Given the description of an element on the screen output the (x, y) to click on. 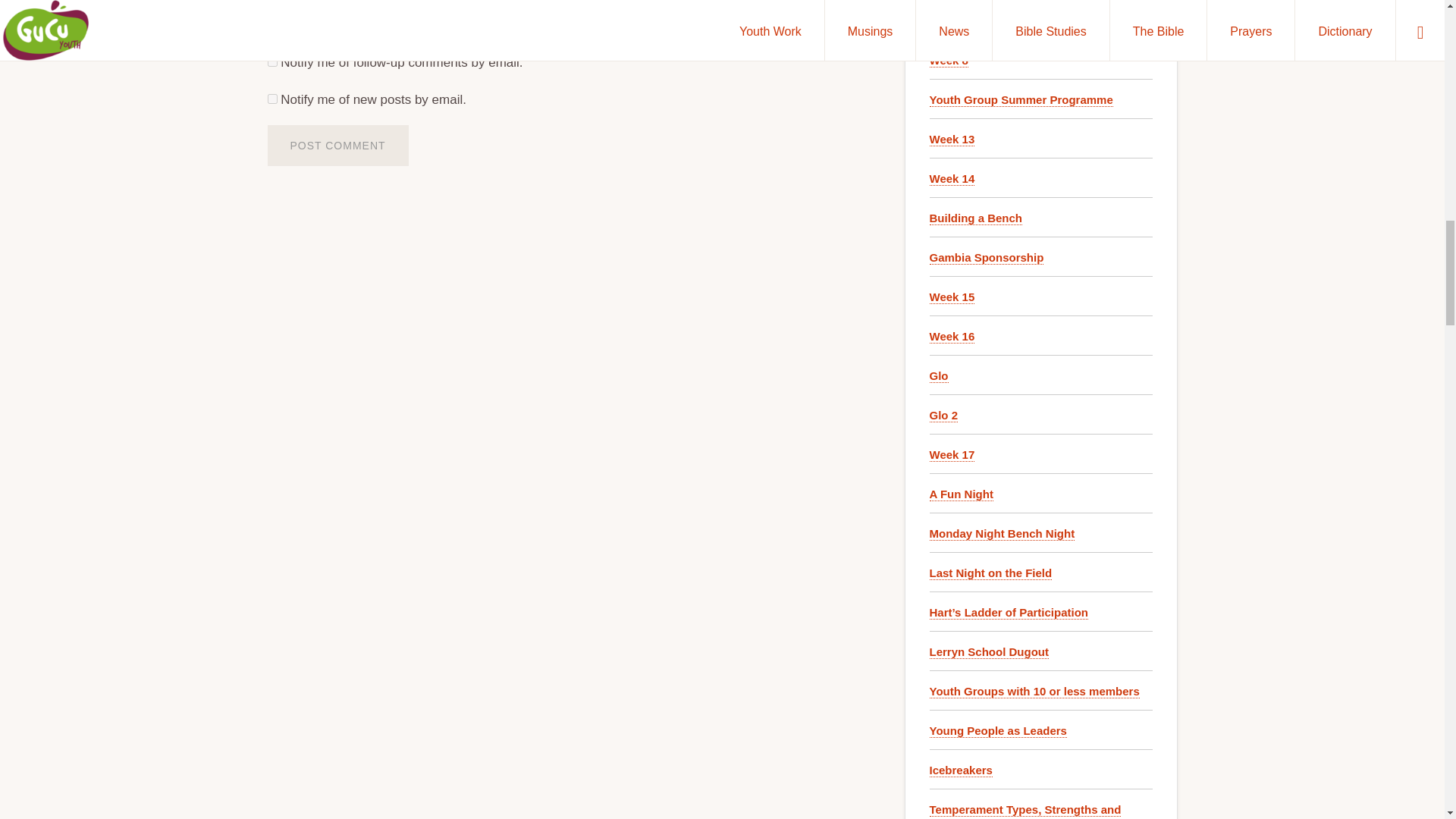
subscribe (271, 99)
Post Comment (336, 145)
subscribe (271, 61)
yes (271, 12)
